Given the description of an element on the screen output the (x, y) to click on. 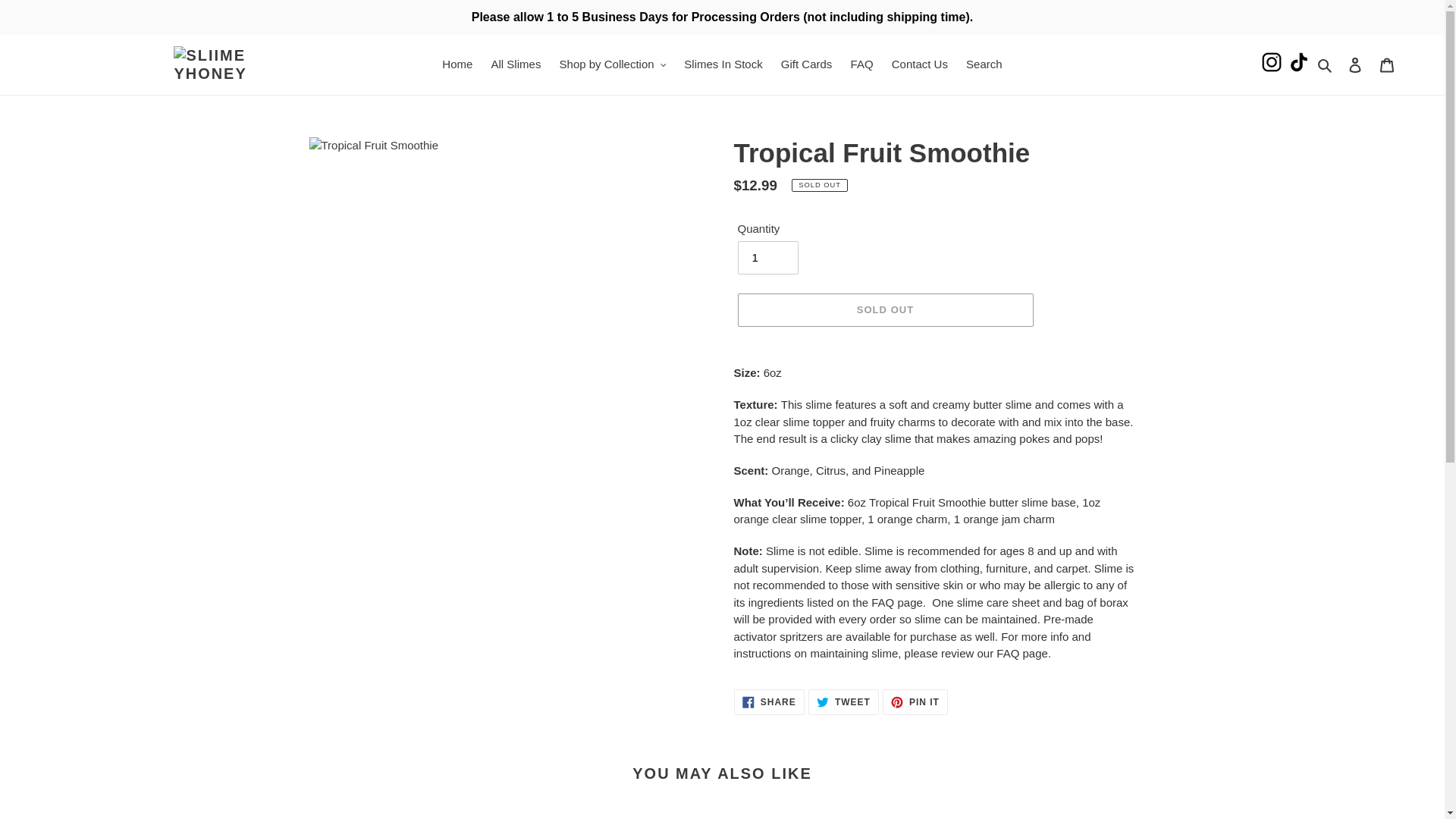
FAQ (861, 65)
Slimes In Stock (723, 65)
Home (456, 65)
follow sliimey honey on tiktok! (1299, 64)
Log in (1355, 64)
Shop by Collection (612, 65)
Search (1326, 64)
follow sliimey honey on instagram! (1271, 64)
Gift Cards (806, 65)
Cart (1387, 64)
Search (984, 65)
1 (766, 257)
All Slimes (515, 65)
Contact Us (919, 65)
